Given the description of an element on the screen output the (x, y) to click on. 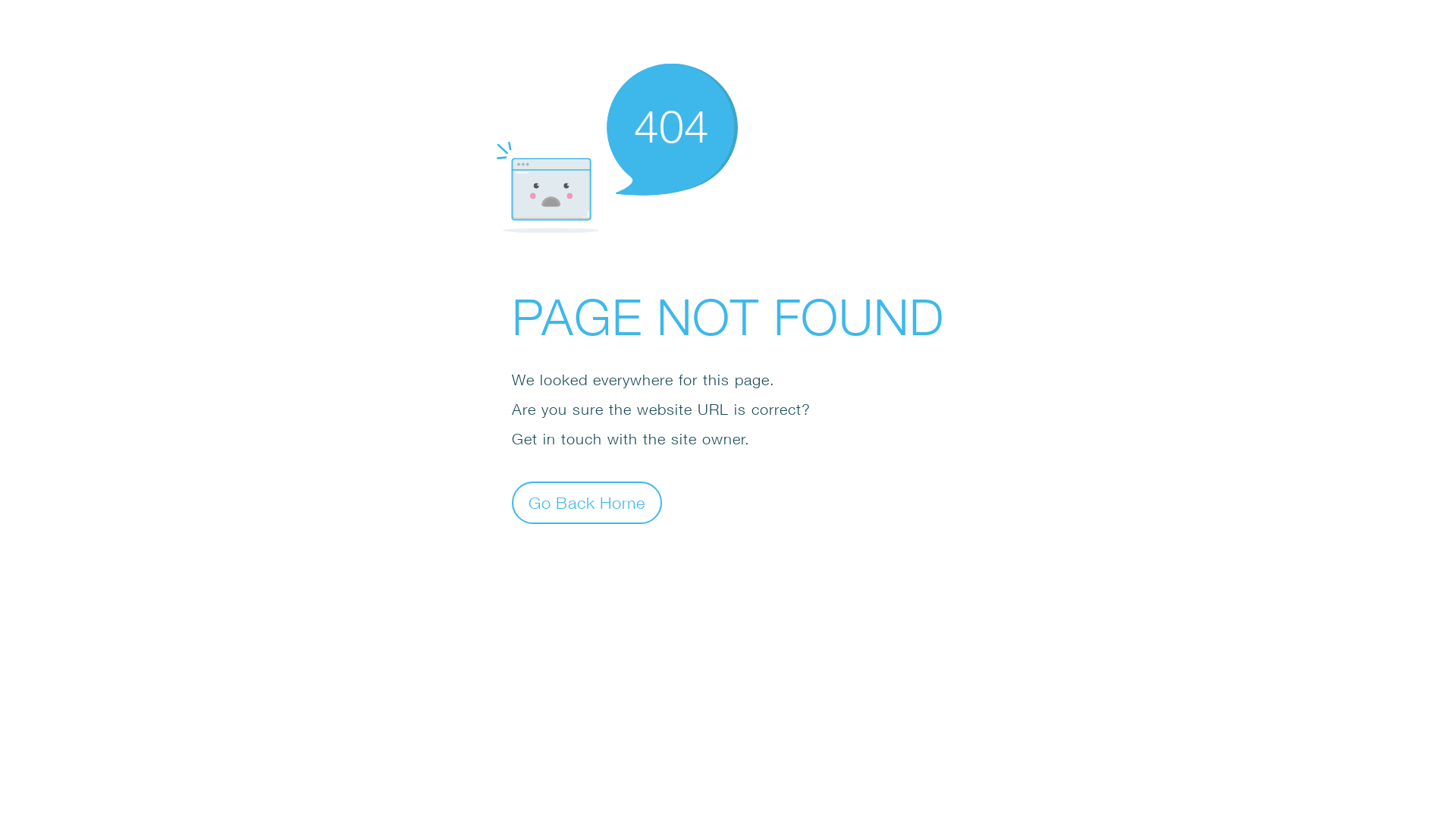
Go Back Home Element type: text (586, 502)
